Given the description of an element on the screen output the (x, y) to click on. 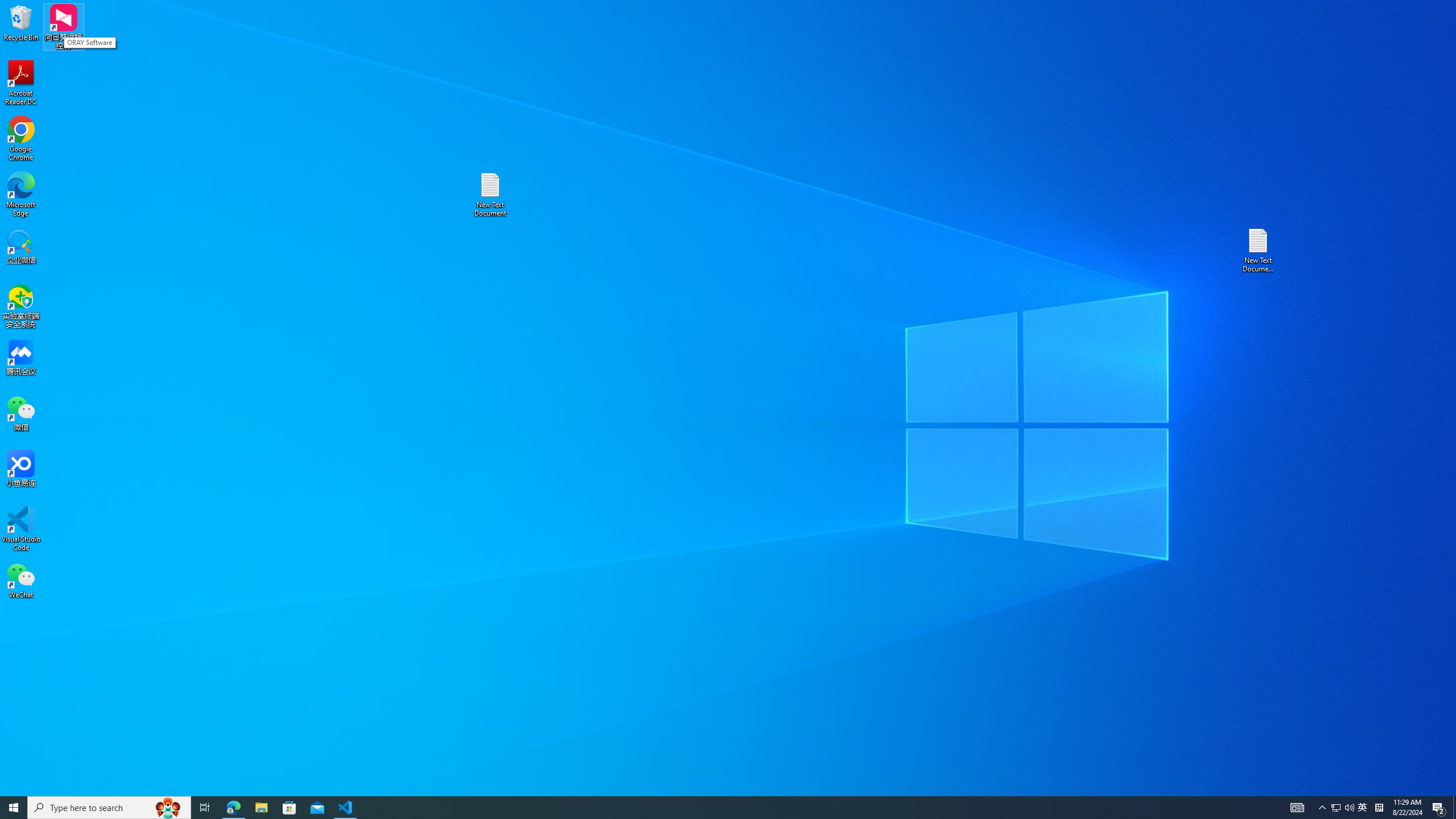
Running applications (1362, 807)
New Text Document (707, 807)
New Text Document (2) (489, 194)
Microsoft Edge (1258, 250)
